Given the description of an element on the screen output the (x, y) to click on. 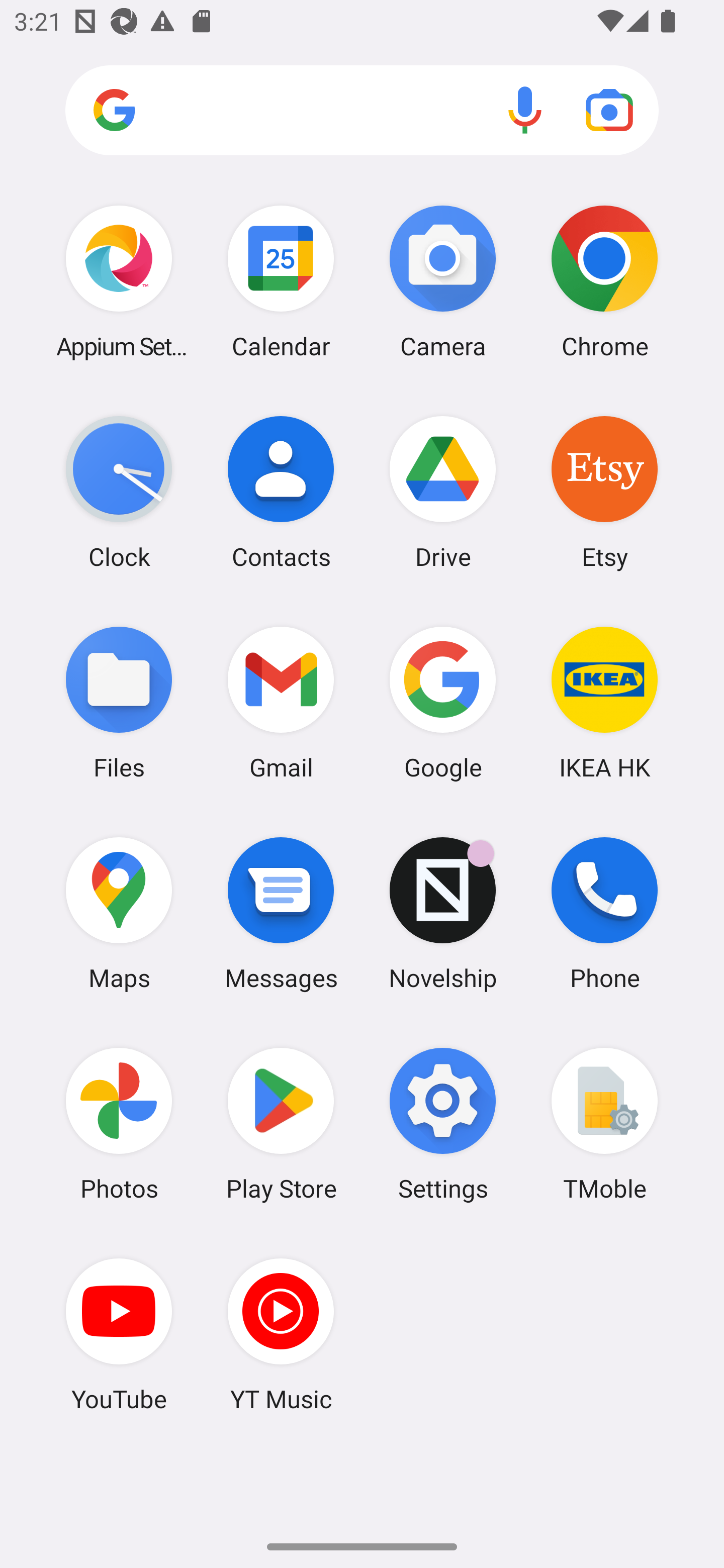
Search apps, web and more (361, 110)
Voice search (524, 109)
Google Lens (608, 109)
Appium Settings (118, 281)
Calendar (280, 281)
Camera (443, 281)
Chrome (604, 281)
Clock (118, 492)
Contacts (280, 492)
Drive (443, 492)
Etsy (604, 492)
Files (118, 702)
Gmail (280, 702)
Google (443, 702)
IKEA HK (604, 702)
Maps (118, 913)
Messages (280, 913)
Novelship Novelship has 5 notifications (443, 913)
Phone (604, 913)
Photos (118, 1124)
Play Store (280, 1124)
Settings (443, 1124)
TMoble (604, 1124)
YouTube (118, 1334)
YT Music (280, 1334)
